Given the description of an element on the screen output the (x, y) to click on. 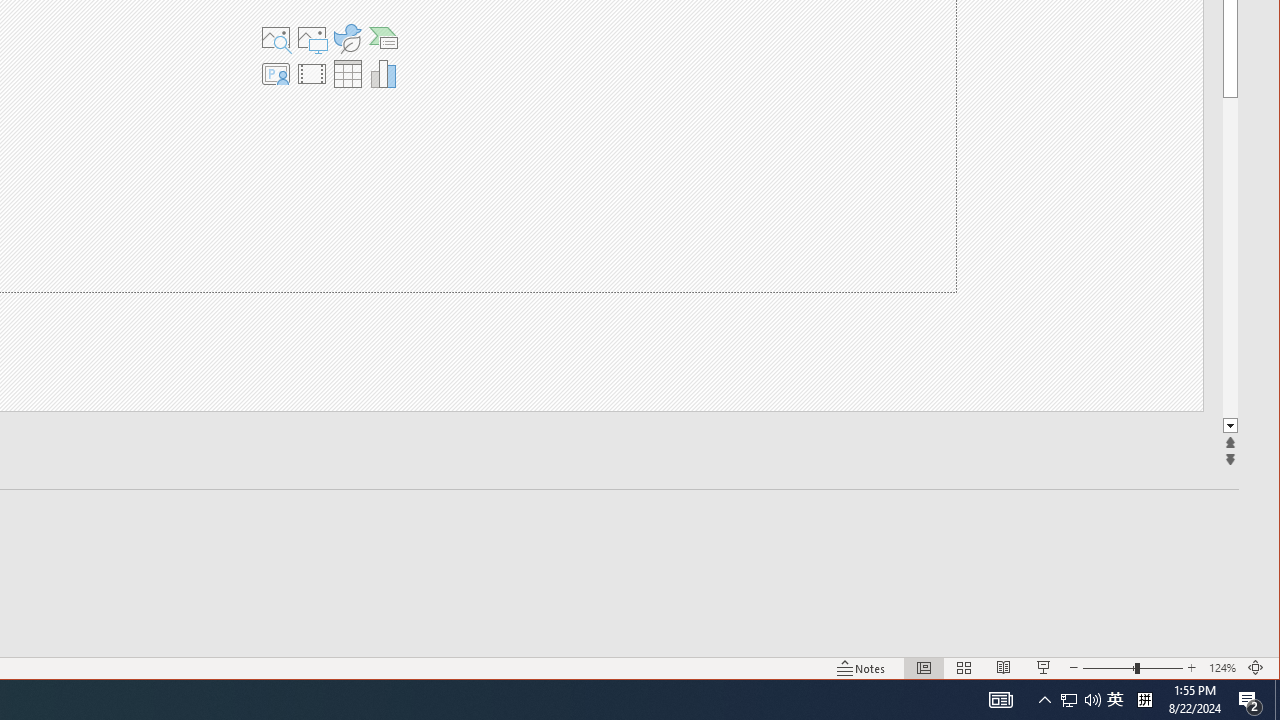
Zoom 124% (1222, 668)
